Given the description of an element on the screen output the (x, y) to click on. 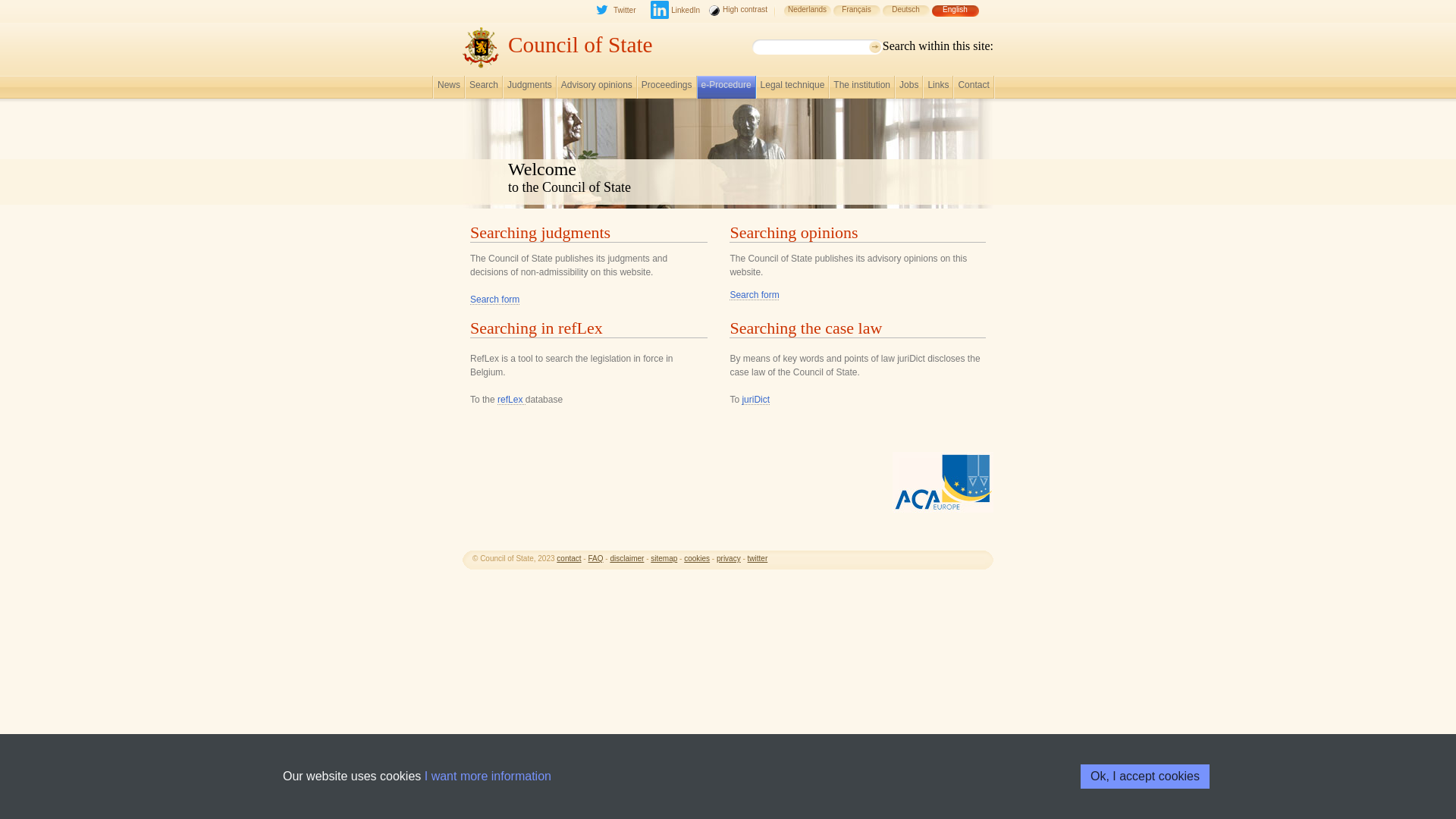
Search Element type: text (483, 88)
sitemap Element type: text (663, 558)
juriDict Element type: text (755, 399)
privacy Element type: text (728, 558)
Advisory opinions Element type: text (596, 88)
disclaimer Element type: text (626, 558)
Search form Element type: text (753, 294)
twitter Element type: text (757, 558)
Judgments Element type: text (529, 88)
Ok, I accept cookies Element type: text (1144, 776)
The institution Element type: text (861, 88)
e-Procedure Element type: text (726, 88)
contact Element type: text (568, 558)
Proceedings Element type: text (666, 88)
  Element type: text (774, 16)
Council of State Element type: text (580, 44)
cookies Element type: text (696, 558)
Legal technique Element type: text (792, 88)
Nederlands Element type: text (806, 16)
Deutsch Element type: text (905, 16)
Contact Element type: text (972, 88)
FAQ Element type: text (594, 558)
I want more information Element type: text (487, 775)
High contrast Element type: text (738, 16)
News Element type: text (448, 88)
Jobs Element type: text (908, 88)
Links Element type: text (937, 88)
Search form Element type: text (494, 299)
English Element type: text (954, 16)
  Element type: text (651, 16)
refLex Element type: text (511, 399)
